Given the description of an element on the screen output the (x, y) to click on. 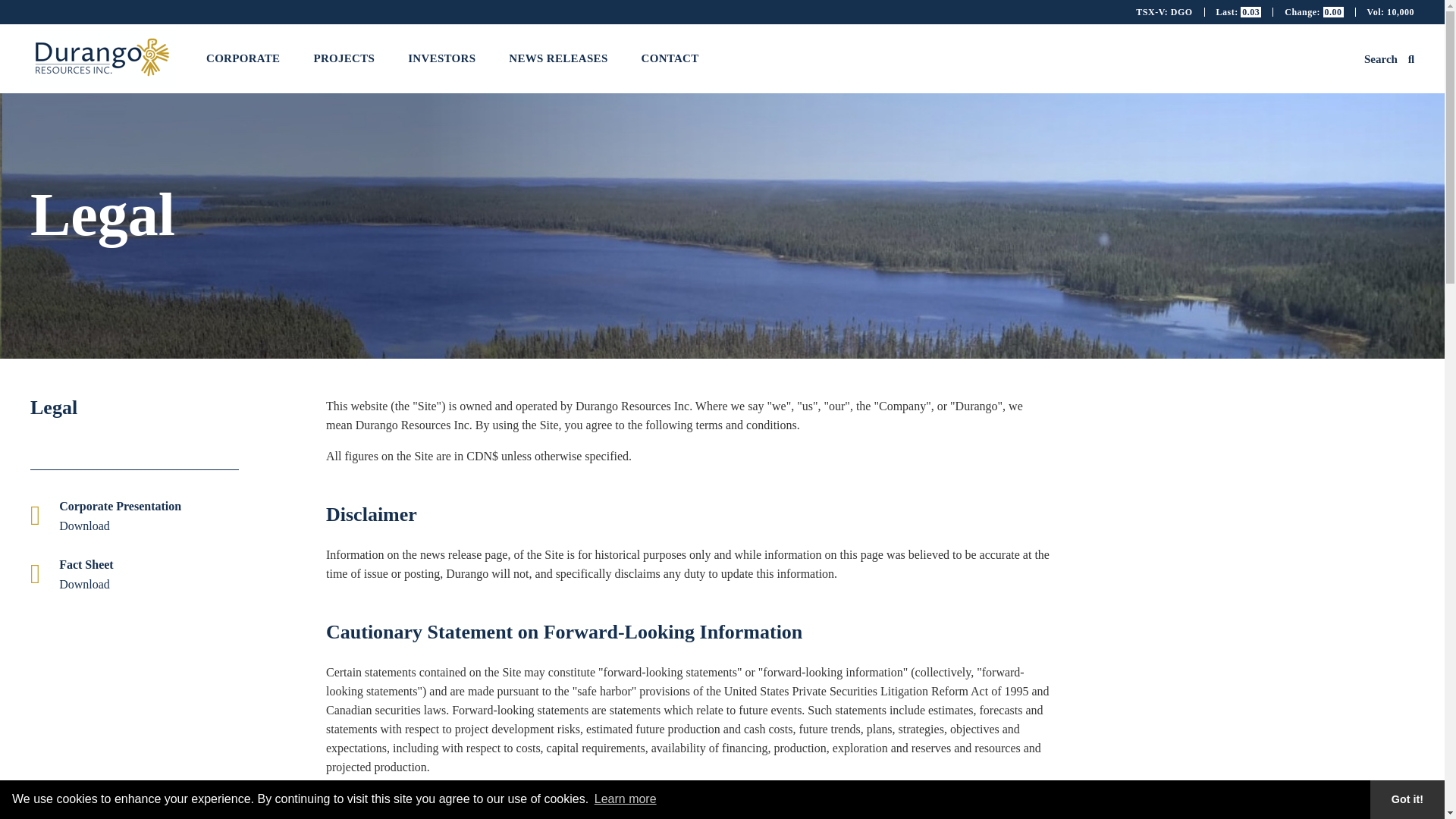
Search (1388, 59)
Learn more (625, 798)
NEWS RELEASES (558, 58)
PROJECTS (344, 58)
CORPORATE (242, 58)
Return to home page (103, 79)
INVESTORS (441, 58)
CONTACT (670, 58)
